Given the description of an element on the screen output the (x, y) to click on. 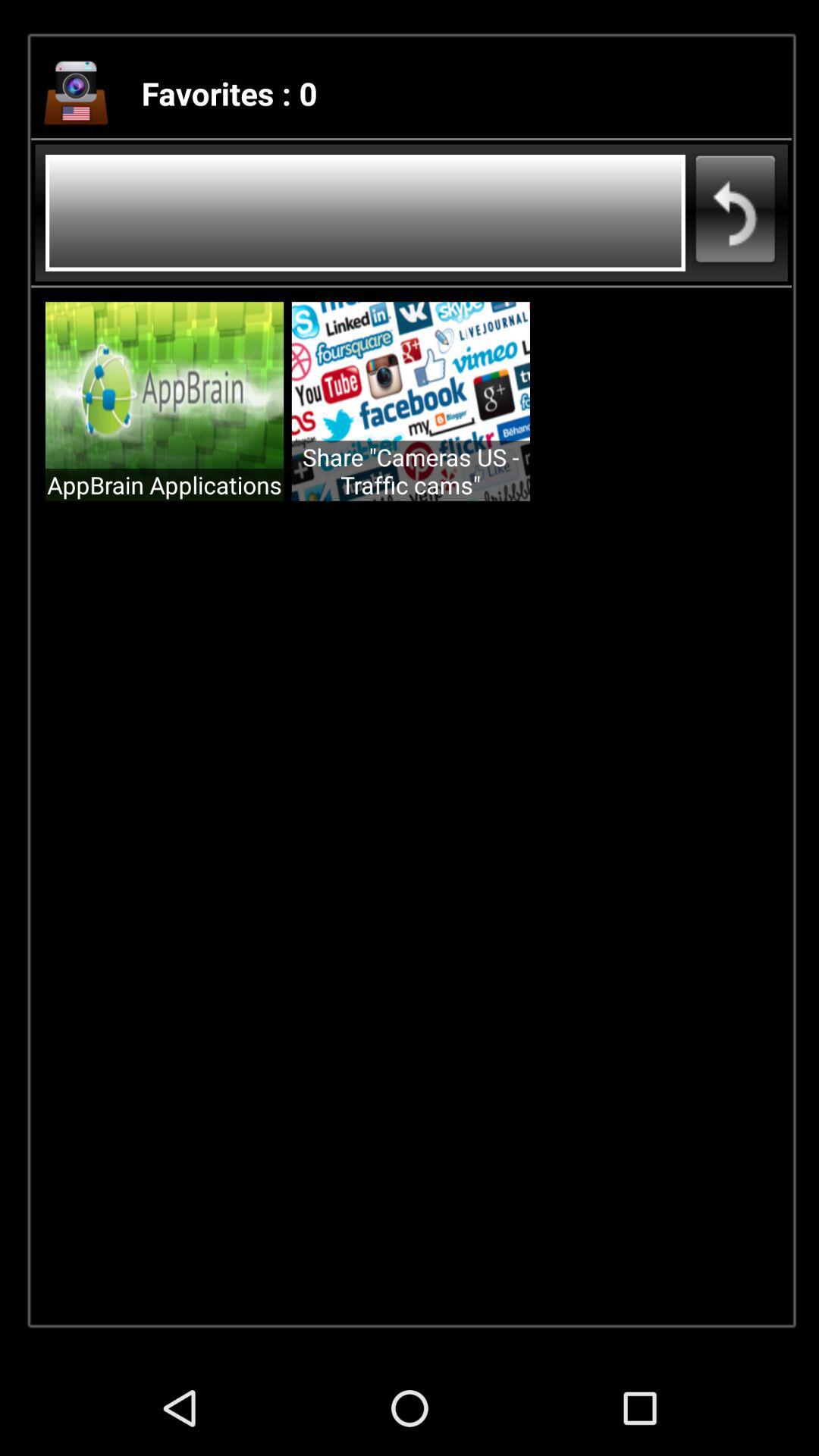
enter se (365, 212)
